Given the description of an element on the screen output the (x, y) to click on. 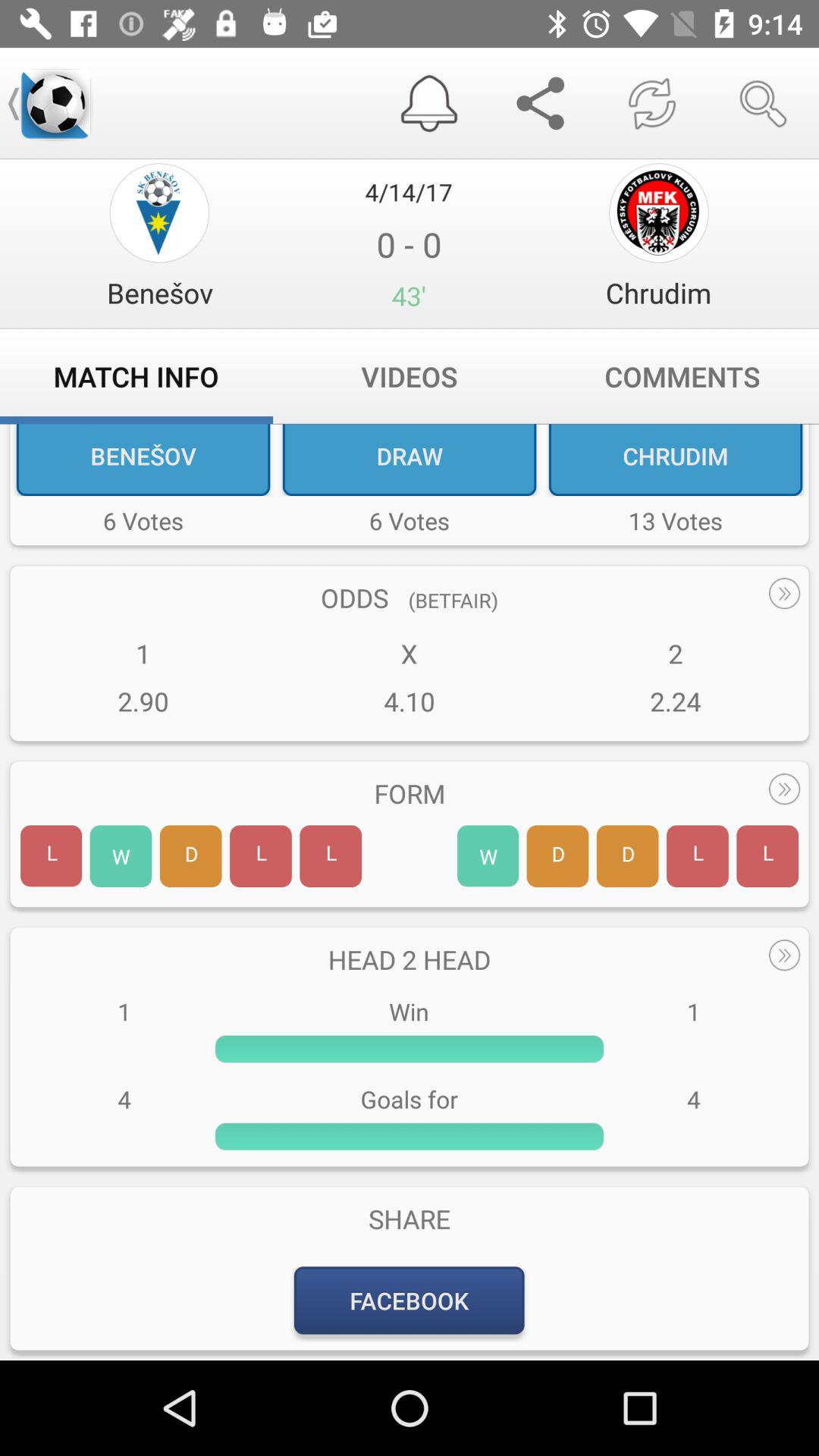
button image (159, 212)
